Given the description of an element on the screen output the (x, y) to click on. 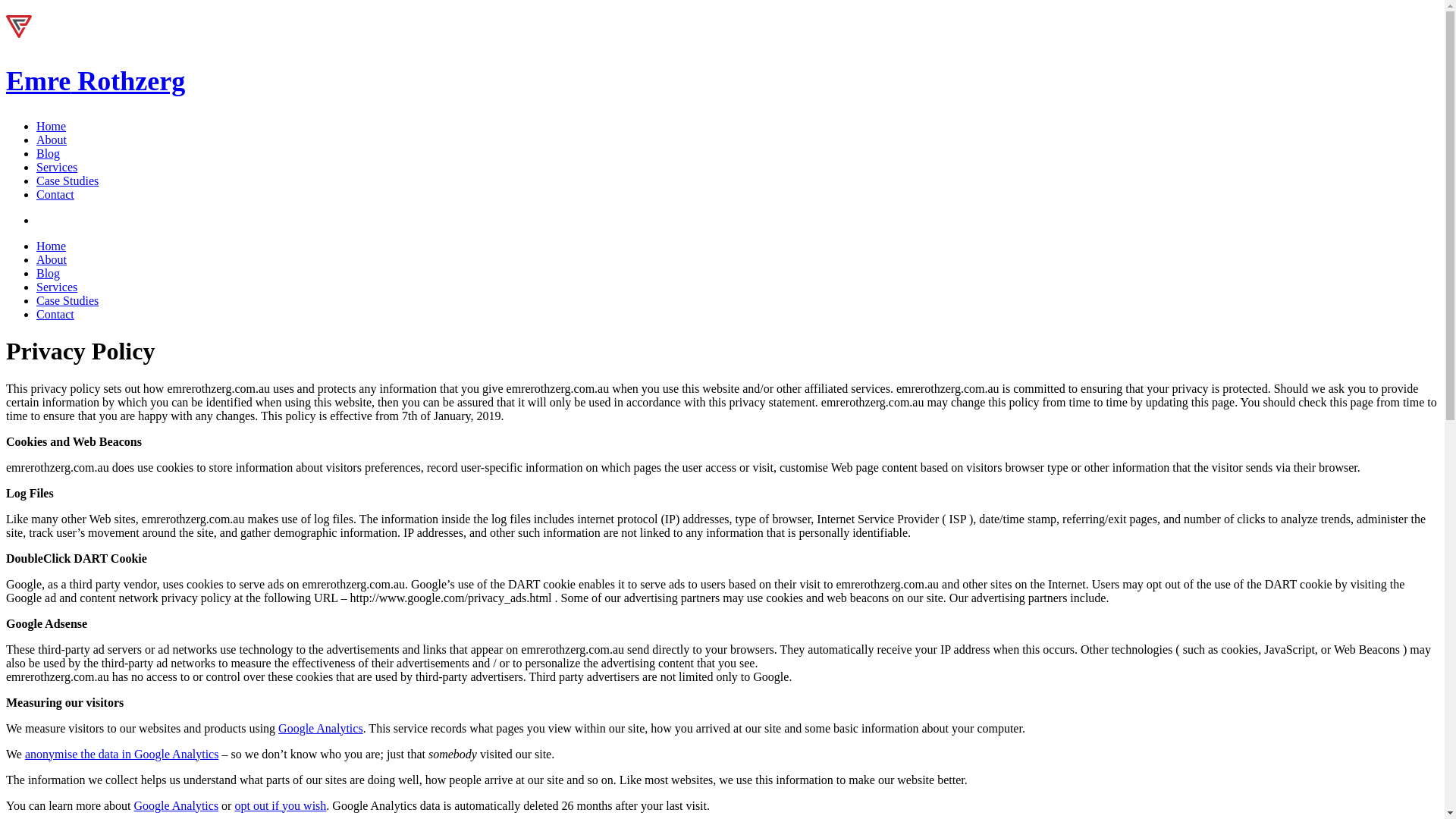
Case Studies (67, 180)
About (51, 259)
Google Analytics' privacy policy (176, 805)
Contact (55, 194)
About (51, 139)
Contact (55, 194)
How to opt out of Google Analytics (280, 805)
About (51, 259)
anonymise the data in Google Analytics (121, 753)
Google Analytics (176, 805)
Blog (47, 273)
Case Studies (67, 300)
Services (56, 166)
Services (56, 286)
Blog (47, 153)
